Given the description of an element on the screen output the (x, y) to click on. 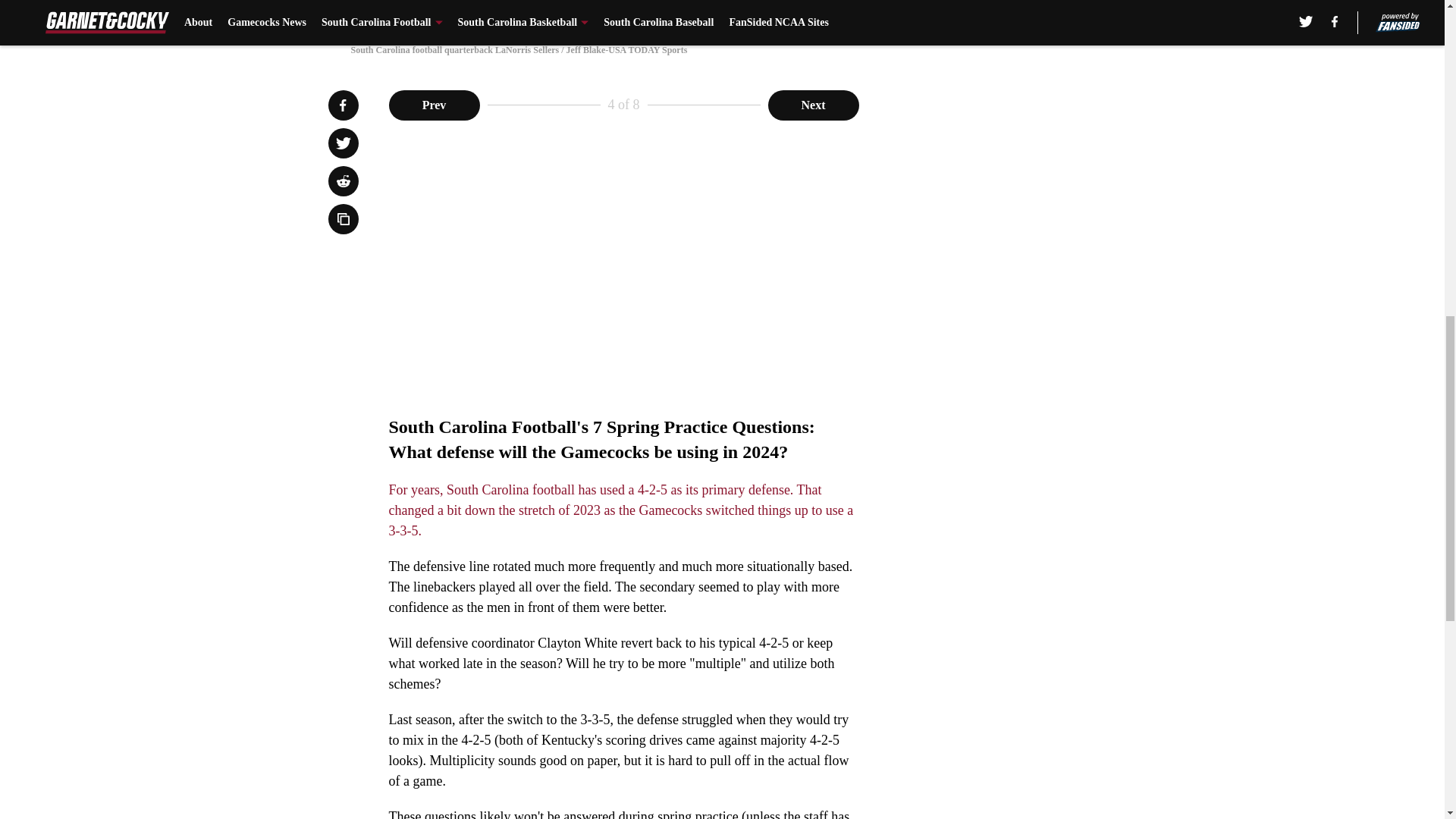
Next (813, 104)
Prev (433, 104)
South Carolina football quarterback LaNorris Sellers (721, 14)
